Given the description of an element on the screen output the (x, y) to click on. 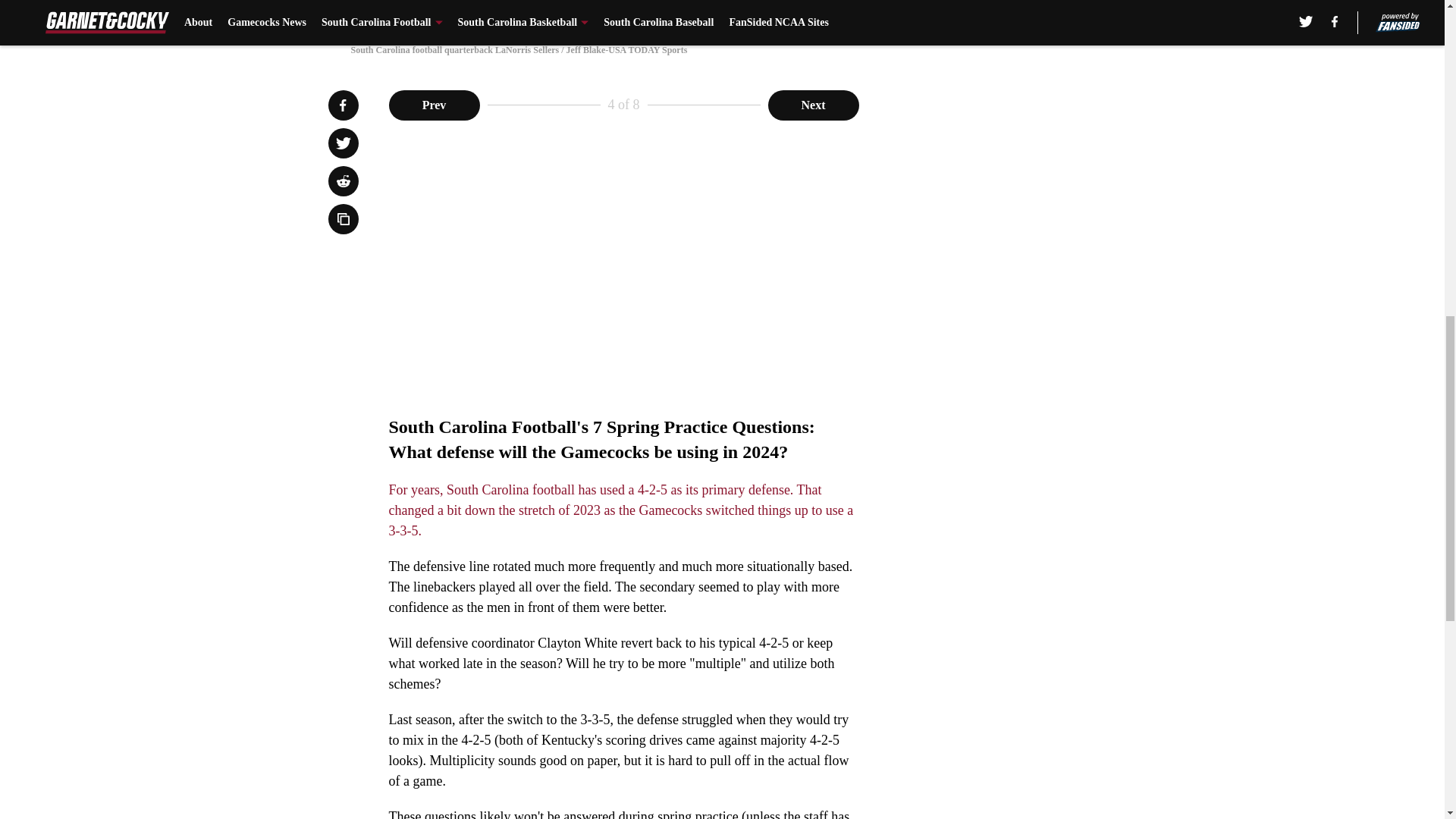
Next (813, 104)
Prev (433, 104)
South Carolina football quarterback LaNorris Sellers (721, 14)
